Given the description of an element on the screen output the (x, y) to click on. 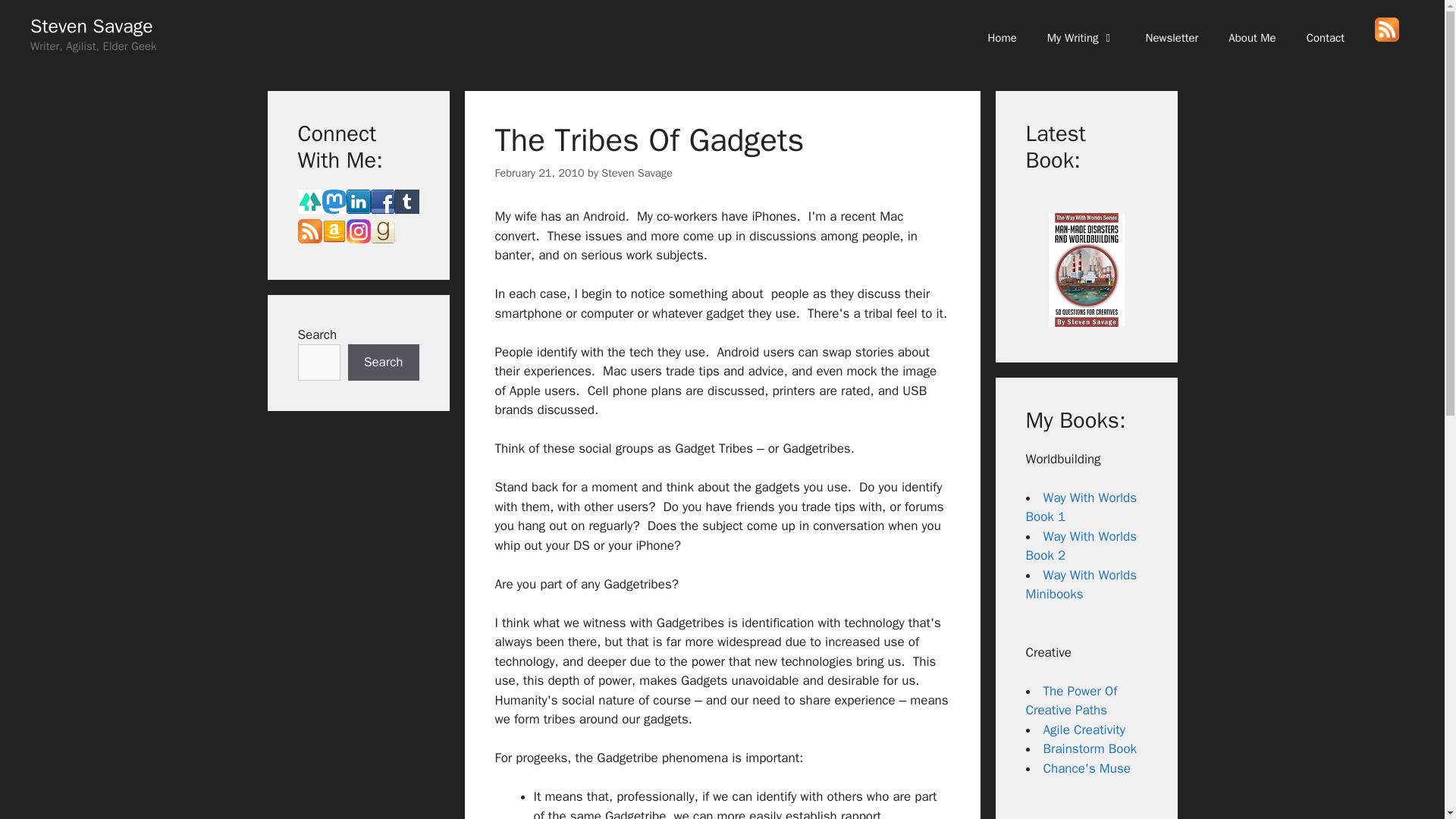
Way With Worlds Book 2 (1081, 546)
Contact (1325, 37)
Chance's Muse (1087, 768)
Agile Creativity (1084, 729)
Way With Worlds Minibooks (1081, 584)
Steven Savage (91, 25)
Way With Worlds Book 1 (1081, 507)
Steven Savage (636, 172)
My Writing (1081, 37)
Search (383, 361)
